Given the description of an element on the screen output the (x, y) to click on. 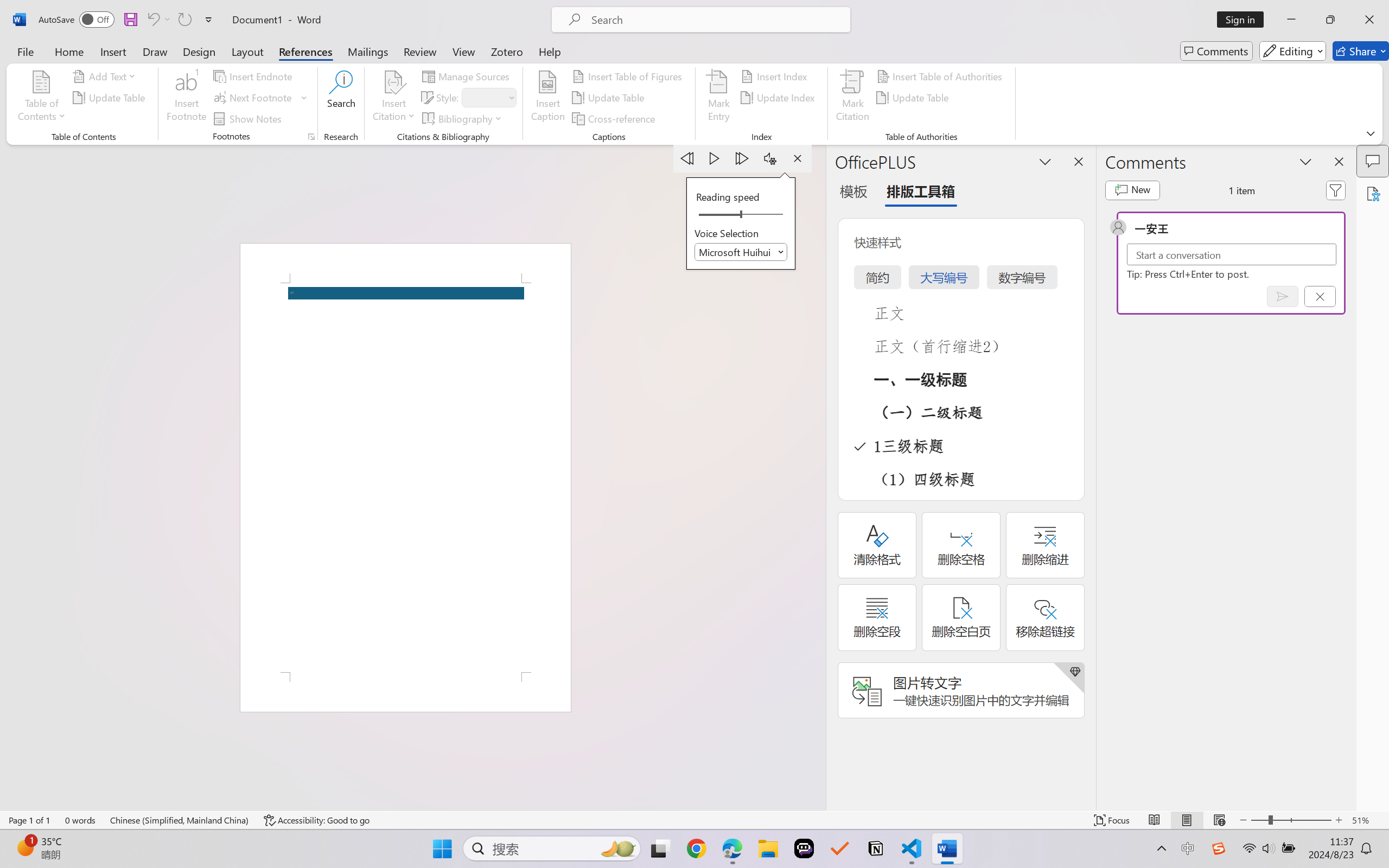
Footnote and Endnote Dialog... (311, 136)
Style (488, 97)
Next Footnote (260, 97)
Page right (765, 214)
Reading speed (740, 214)
